Given the description of an element on the screen output the (x, y) to click on. 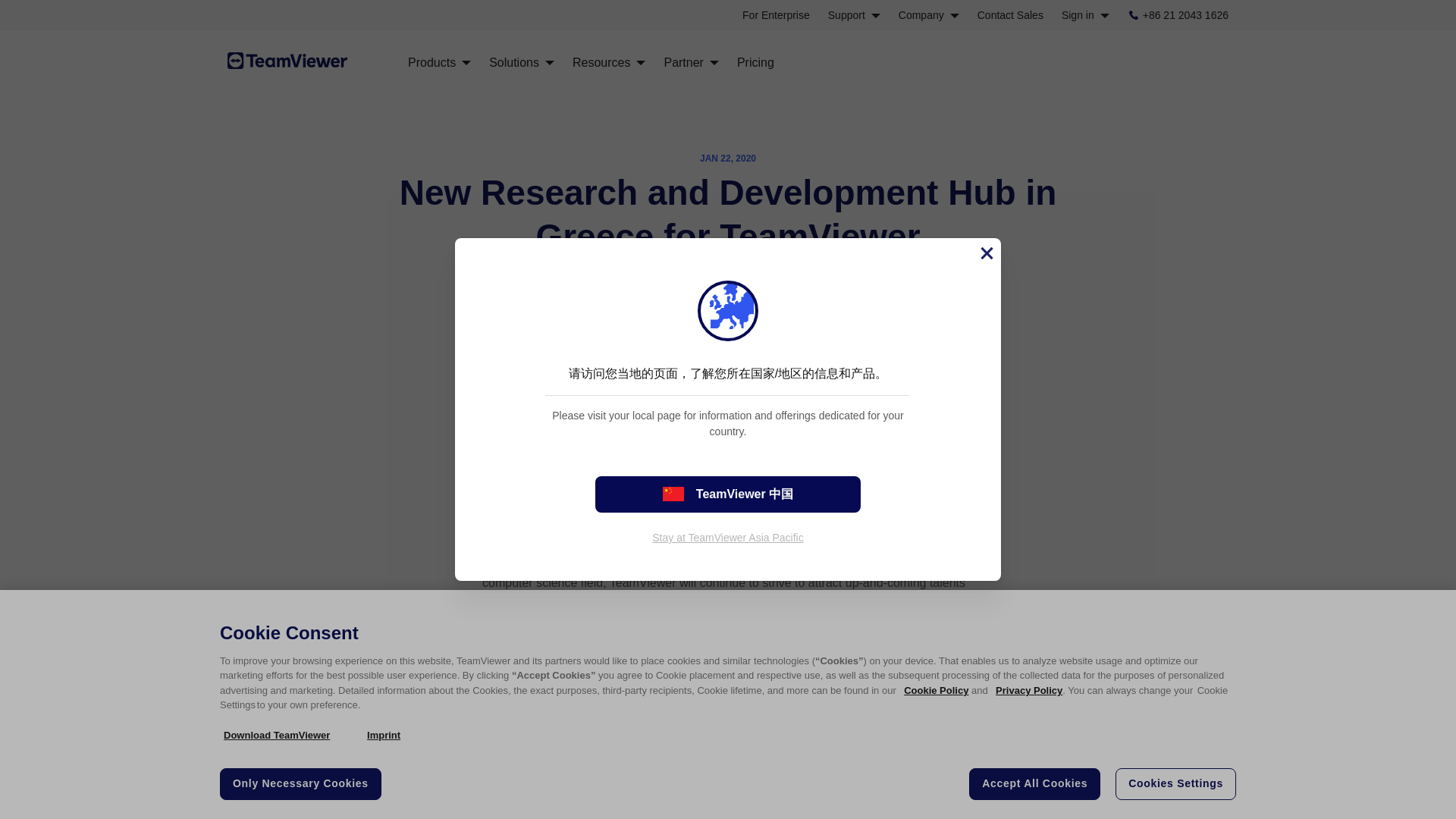
Support (854, 15)
Products (438, 62)
Sign in (1085, 15)
Company (928, 15)
For Enterprise (775, 15)
Contact Sales (1009, 15)
Stay at TeamViewer Asia Pacific (727, 537)
